Given the description of an element on the screen output the (x, y) to click on. 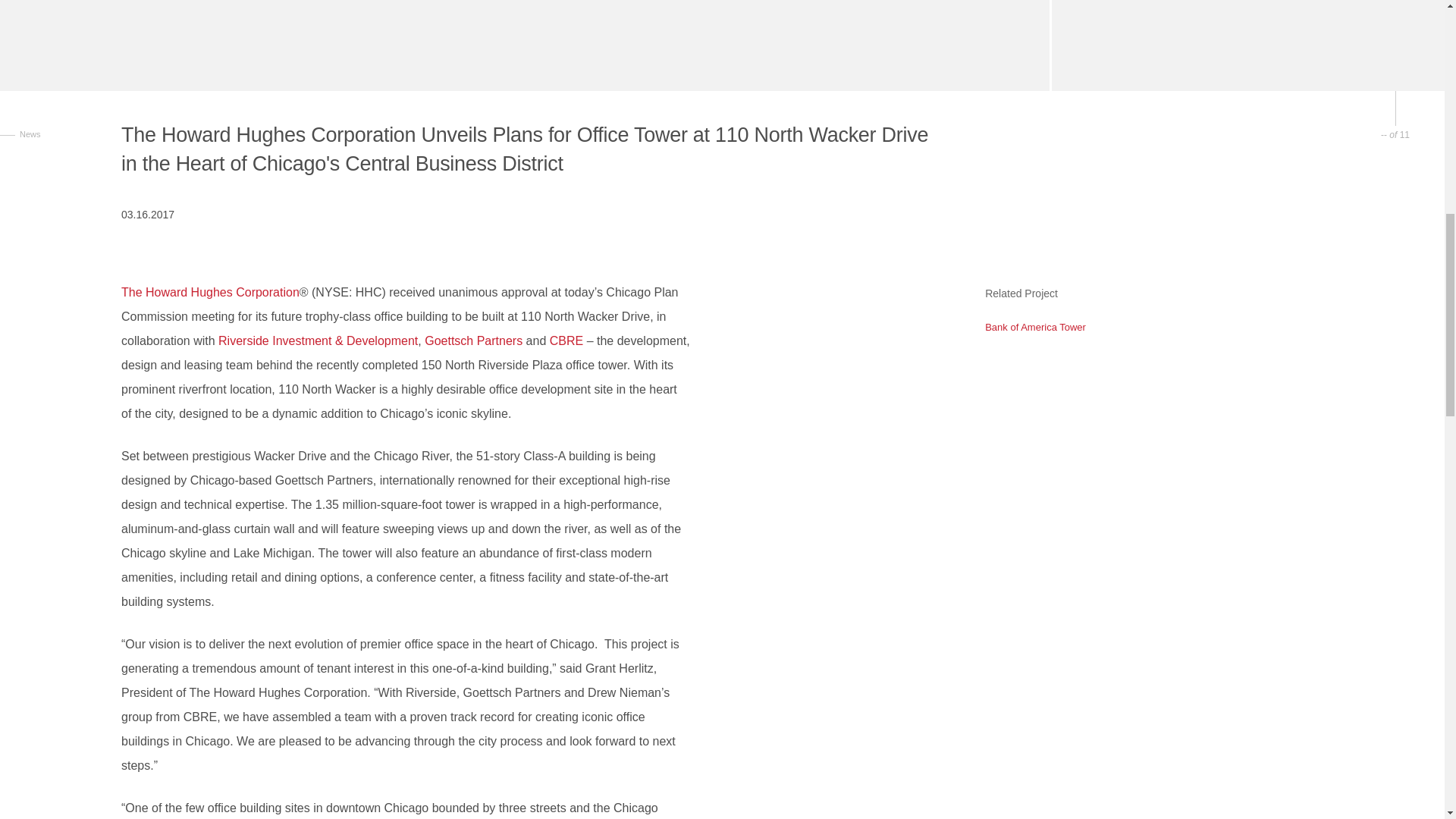
Goettsch Partners (473, 340)
CBRE (566, 340)
News (60, 114)
The Howard Hughes Corporation (209, 291)
